Given the description of an element on the screen output the (x, y) to click on. 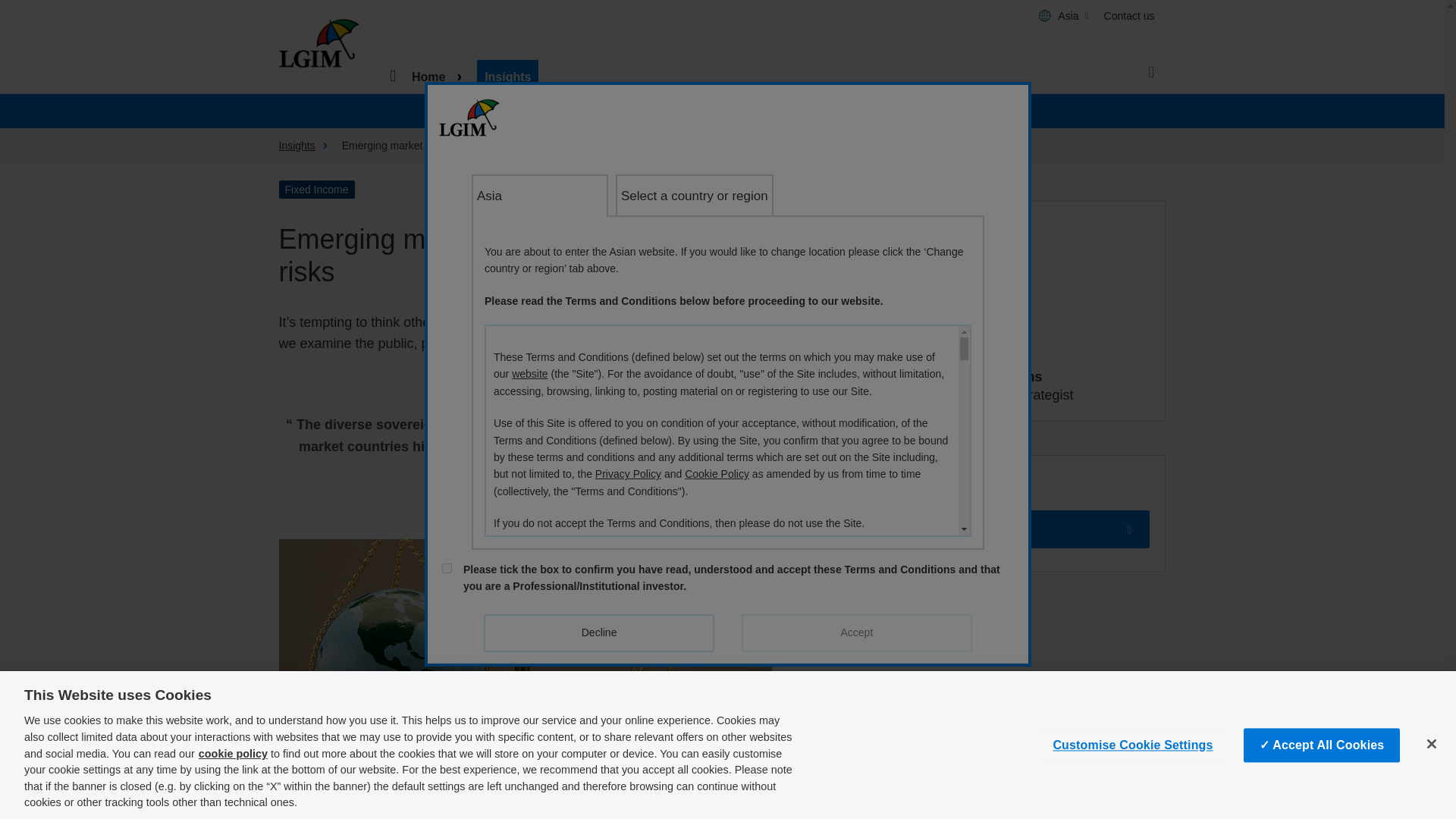
on (446, 568)
